Given the description of an element on the screen output the (x, y) to click on. 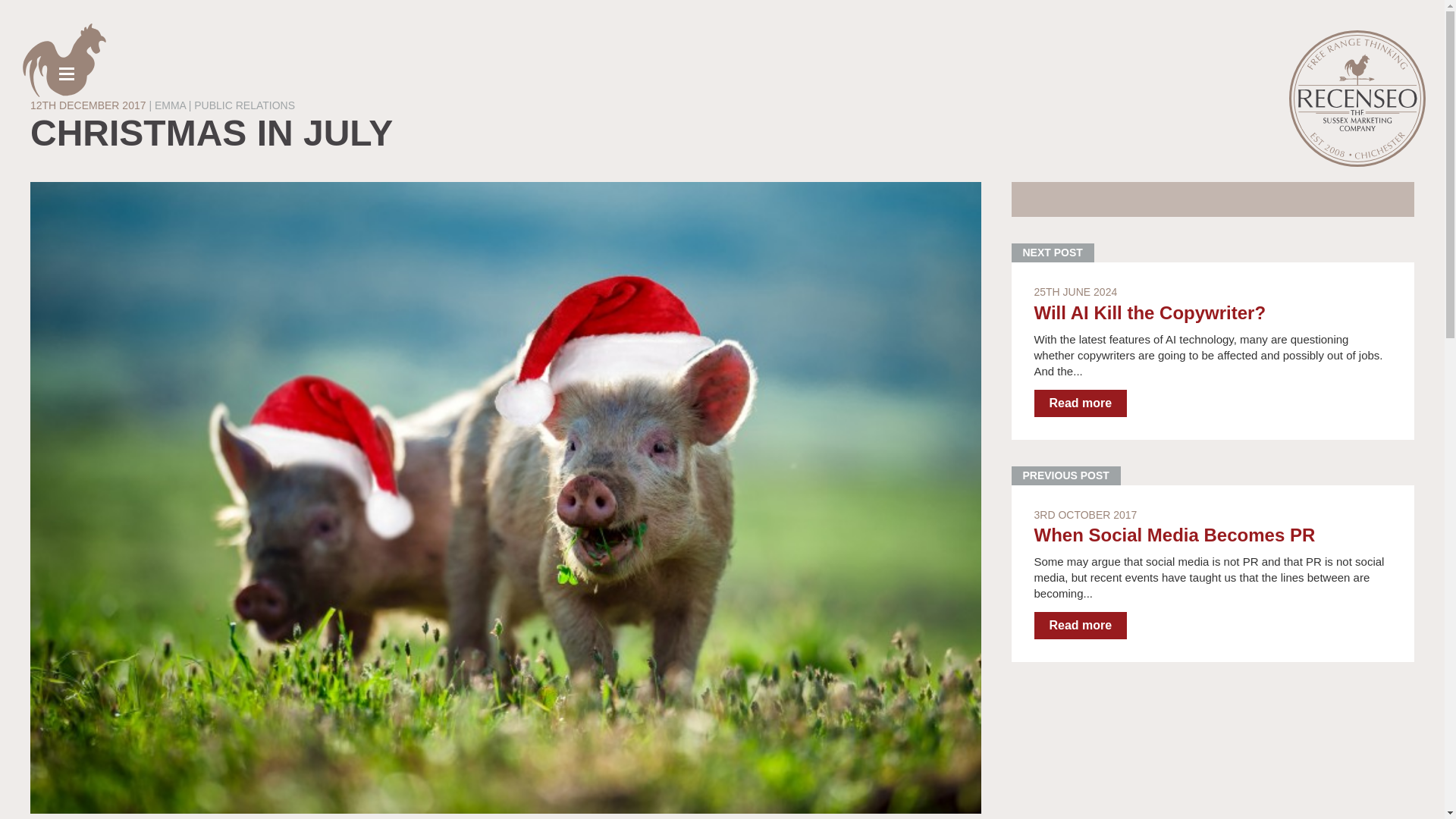
When Social Media Becomes PR (1213, 573)
Search (40, 14)
PUBLIC RELATIONS (244, 105)
Will AI Kill the Copywriter?   (1154, 312)
Recenseo (1356, 98)
When Social Media Becomes PR (1174, 534)
Menu (71, 64)
When Social Media Becomes PR (1174, 534)
